Given the description of an element on the screen output the (x, y) to click on. 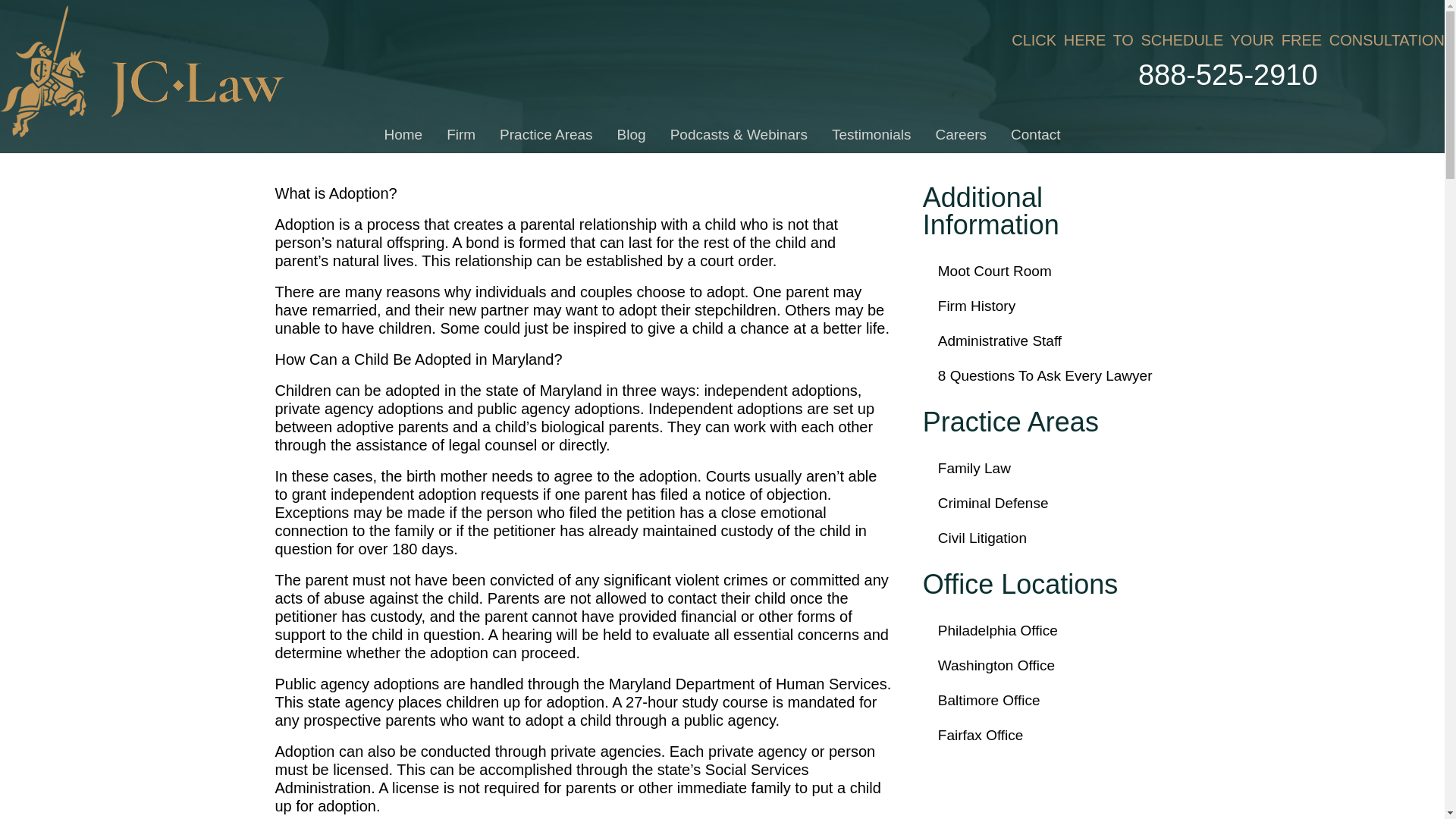
Practice Areas (546, 134)
CLICK HERE TO SCHEDULE YOUR FREE CONSULTATION (1227, 39)
Firm (460, 134)
Home (402, 134)
888-525-2910 (1368, 74)
